Given the description of an element on the screen output the (x, y) to click on. 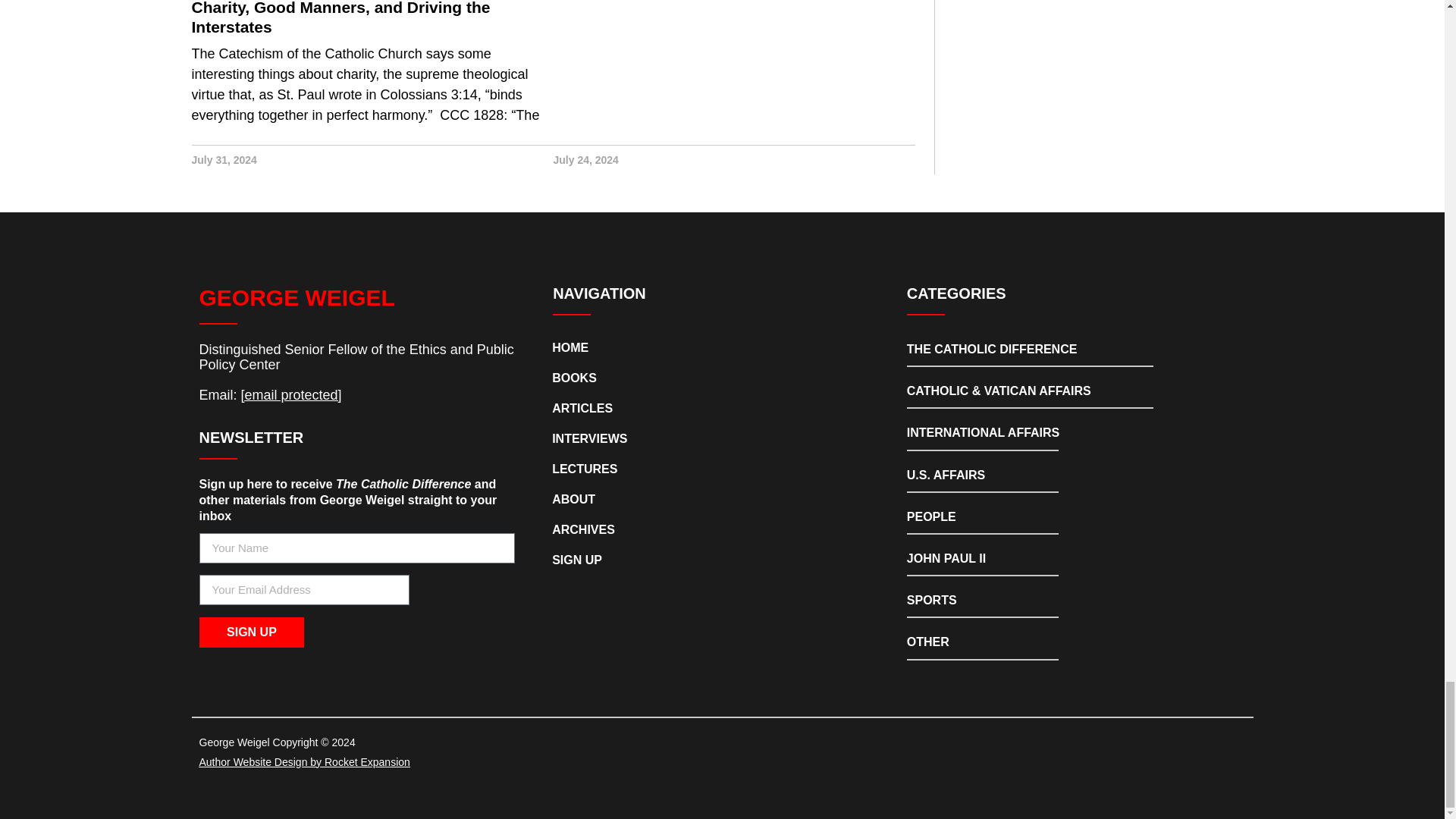
Page 2 (356, 394)
Page 2 (356, 357)
